Given the description of an element on the screen output the (x, y) to click on. 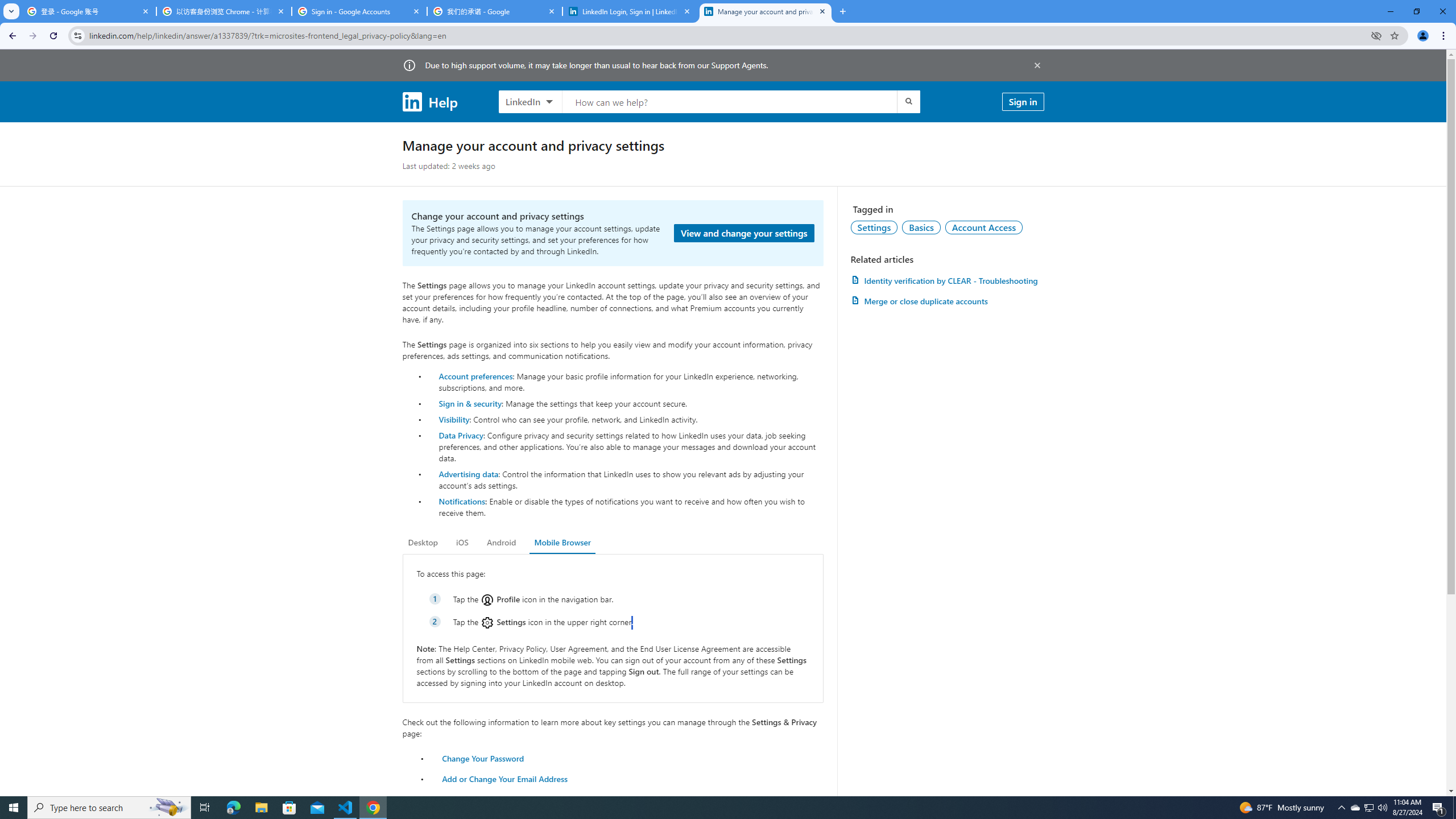
AutomationID: topic-link-a51 (921, 227)
Desktop (422, 542)
AutomationID: topic-link-a149001 (874, 227)
Notifications (461, 500)
View and change your settings (743, 232)
Android (501, 542)
Account Access (983, 227)
Account preferences (475, 375)
Submit search (908, 101)
Data Privacy (460, 434)
